Given the description of an element on the screen output the (x, y) to click on. 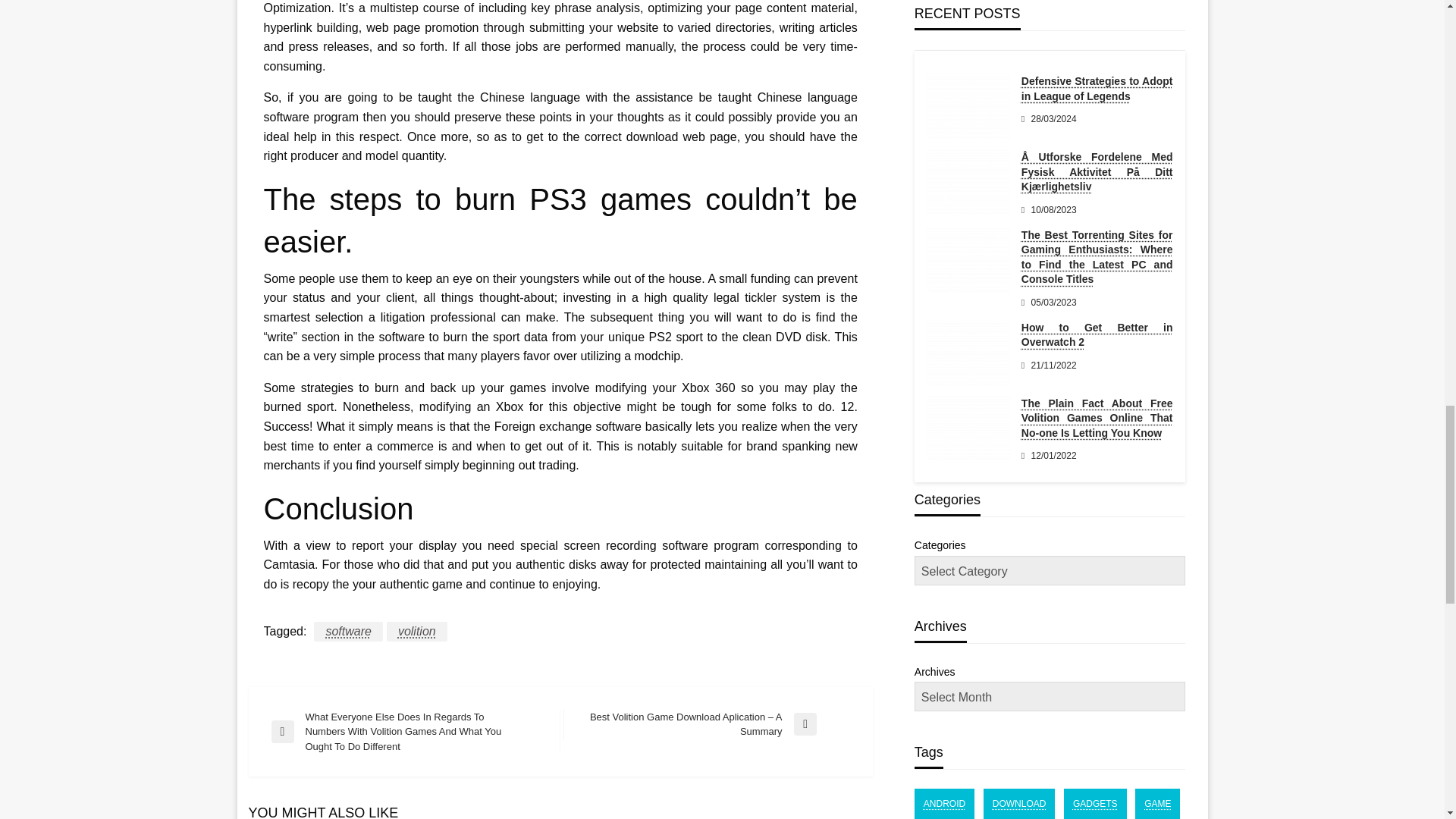
volition (416, 631)
software (347, 631)
